Given the description of an element on the screen output the (x, y) to click on. 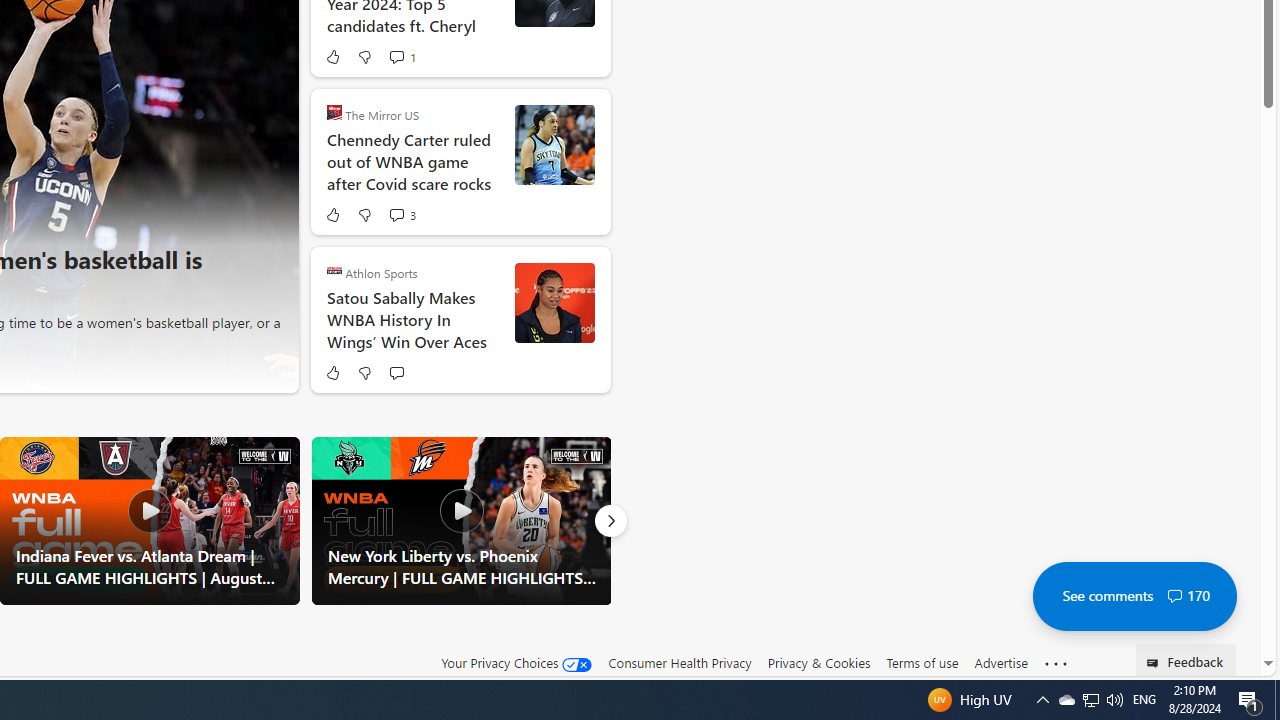
Next (610, 520)
View comments 1 Comment (401, 56)
Consumer Health Privacy (680, 662)
